Given the description of an element on the screen output the (x, y) to click on. 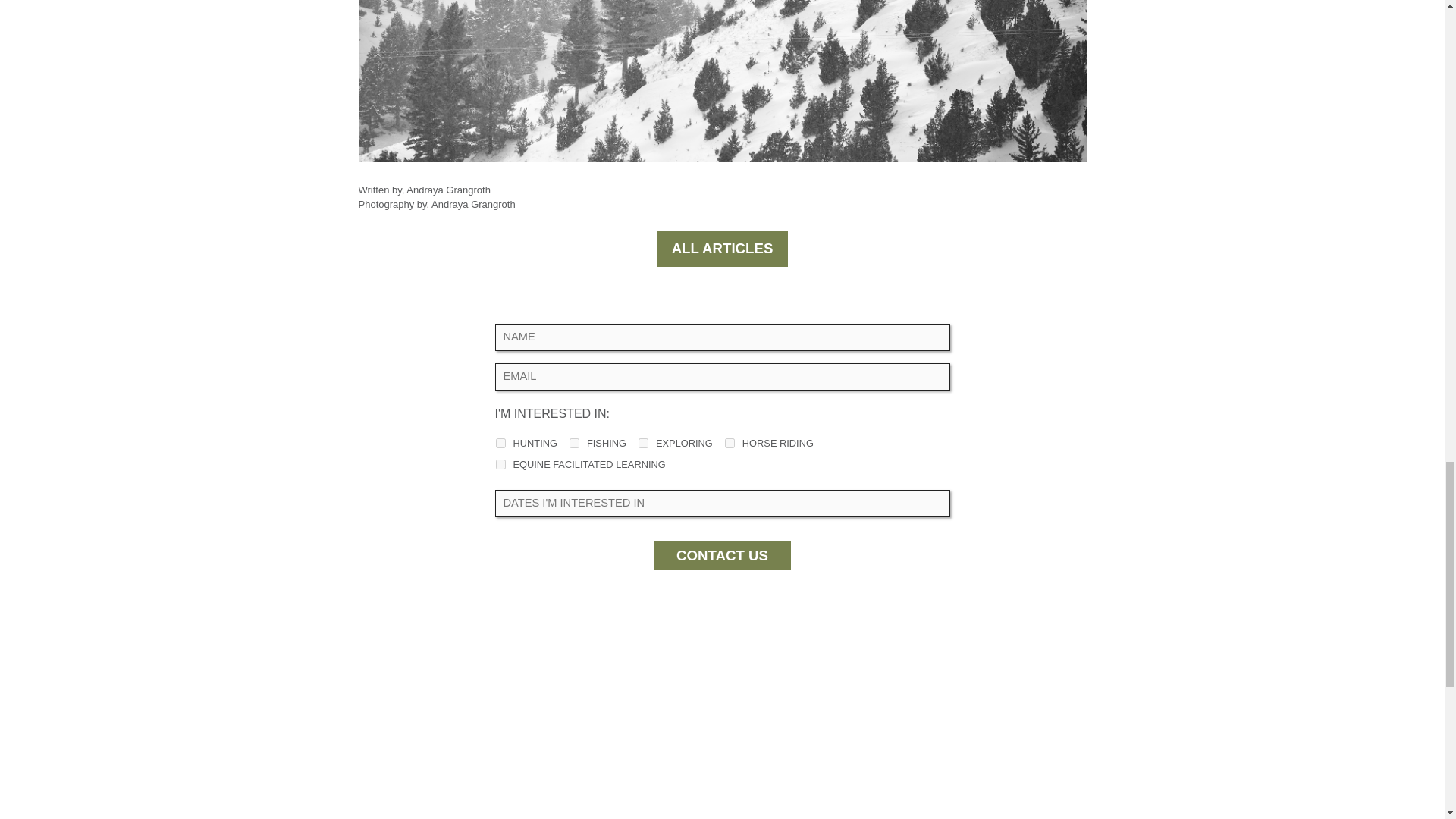
ALL ARTICLES (722, 248)
Exploring (643, 442)
Fishing (574, 442)
Hunting (500, 442)
Contact Us (721, 555)
Horse Riding (730, 442)
Equine Facilitated Learning (500, 464)
Contact Us (721, 555)
